Given the description of an element on the screen output the (x, y) to click on. 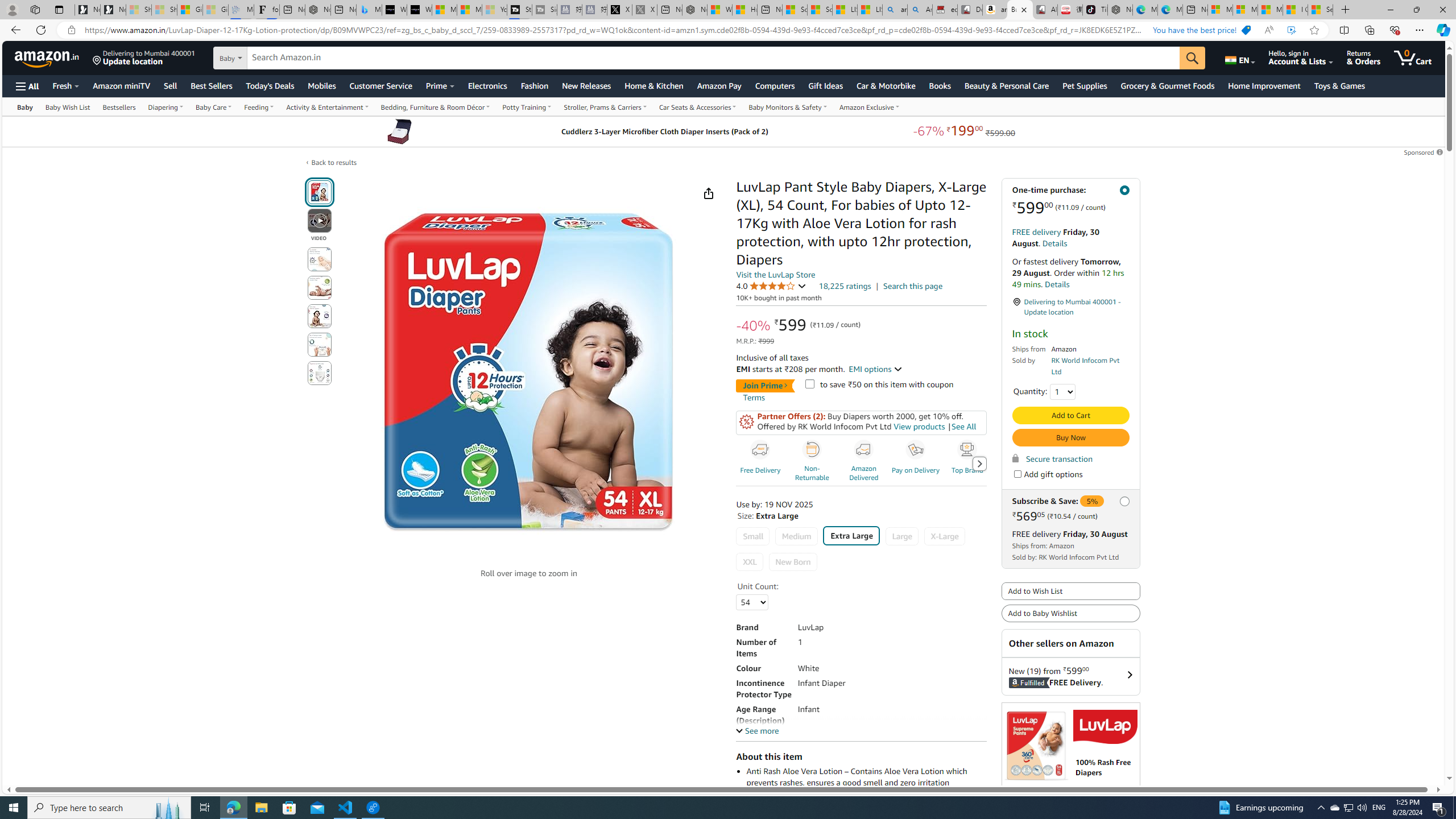
Non-Returnable (813, 462)
AutomationID: native_dropdown_selected_unit_count (751, 602)
Car & Motorbike (885, 85)
Pet Supplies (1084, 85)
Computers (775, 85)
Quantity: (1062, 391)
Today's Deals (269, 85)
